Given the description of an element on the screen output the (x, y) to click on. 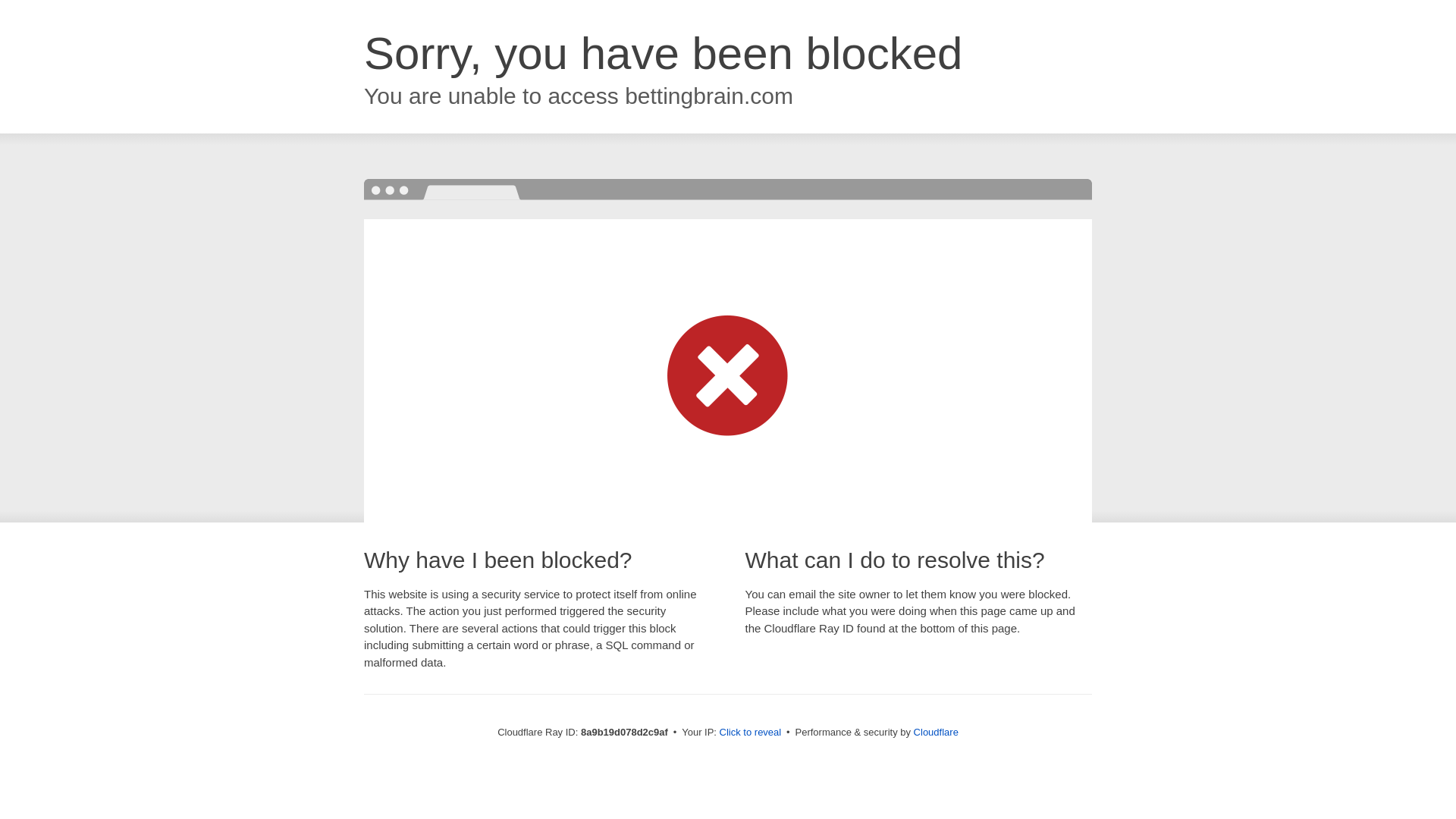
Click to reveal (750, 732)
Cloudflare (936, 731)
